Given the description of an element on the screen output the (x, y) to click on. 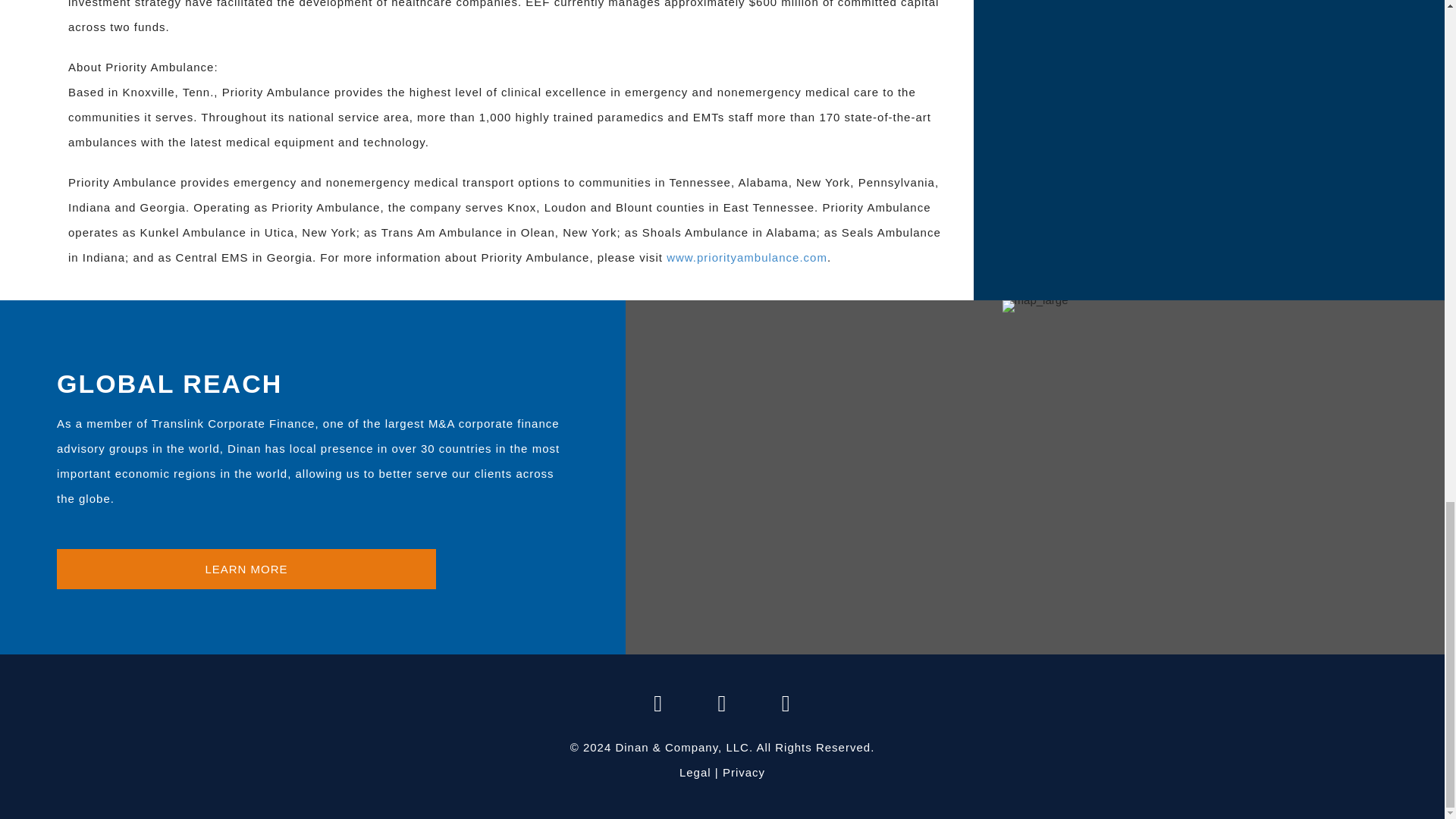
www.priorityambulance.com (746, 256)
LEARN MORE (245, 568)
Legal (695, 771)
Privacy (743, 771)
